Given the description of an element on the screen output the (x, y) to click on. 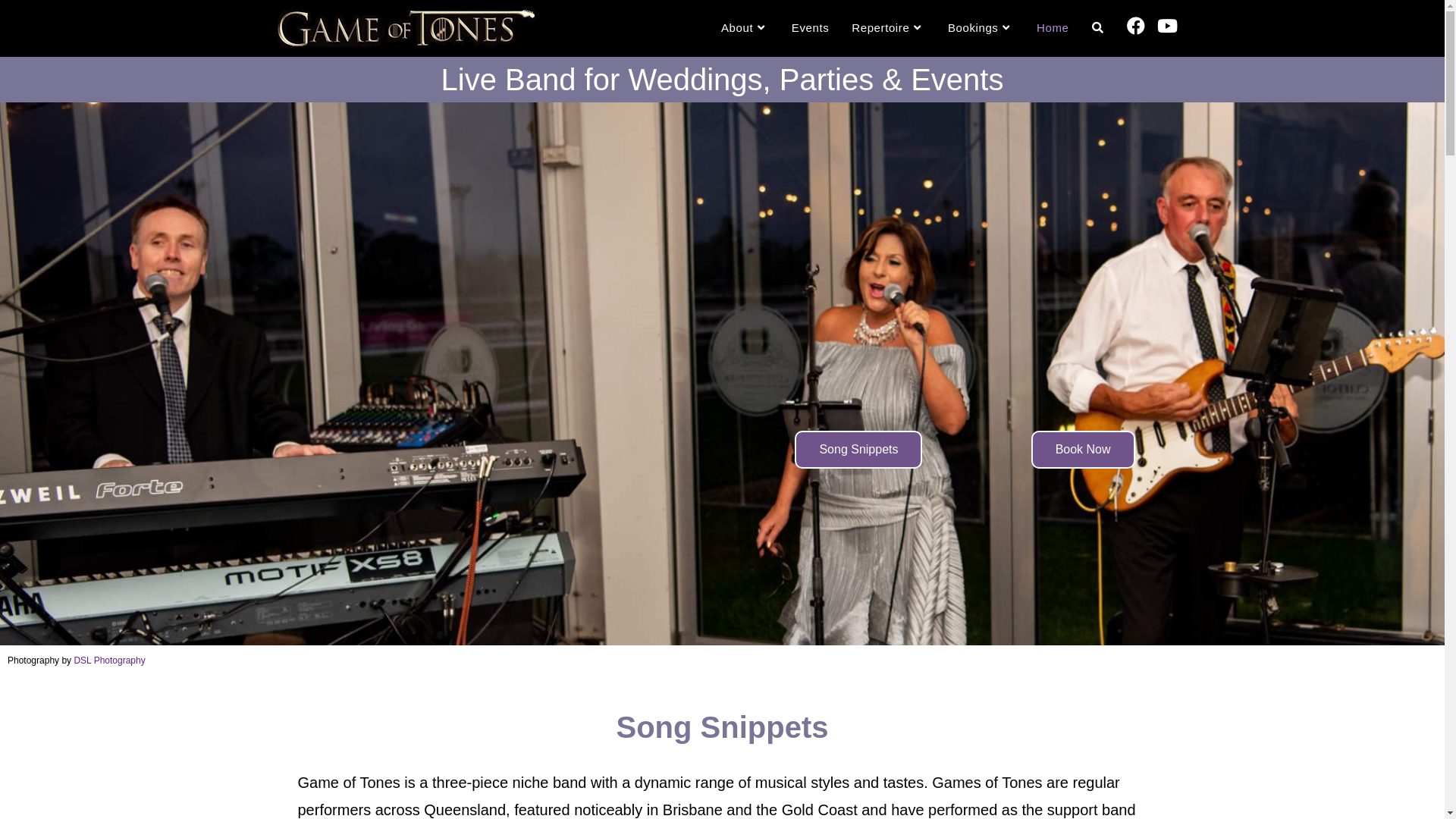
Bookings Element type: text (980, 28)
DSL Photography Element type: text (108, 660)
Repertoire Element type: text (888, 28)
Events Element type: text (810, 28)
Song Snippets Element type: text (858, 449)
Home Element type: text (1052, 28)
About Element type: text (744, 28)
Book Now Element type: text (1083, 449)
